Given the description of an element on the screen output the (x, y) to click on. 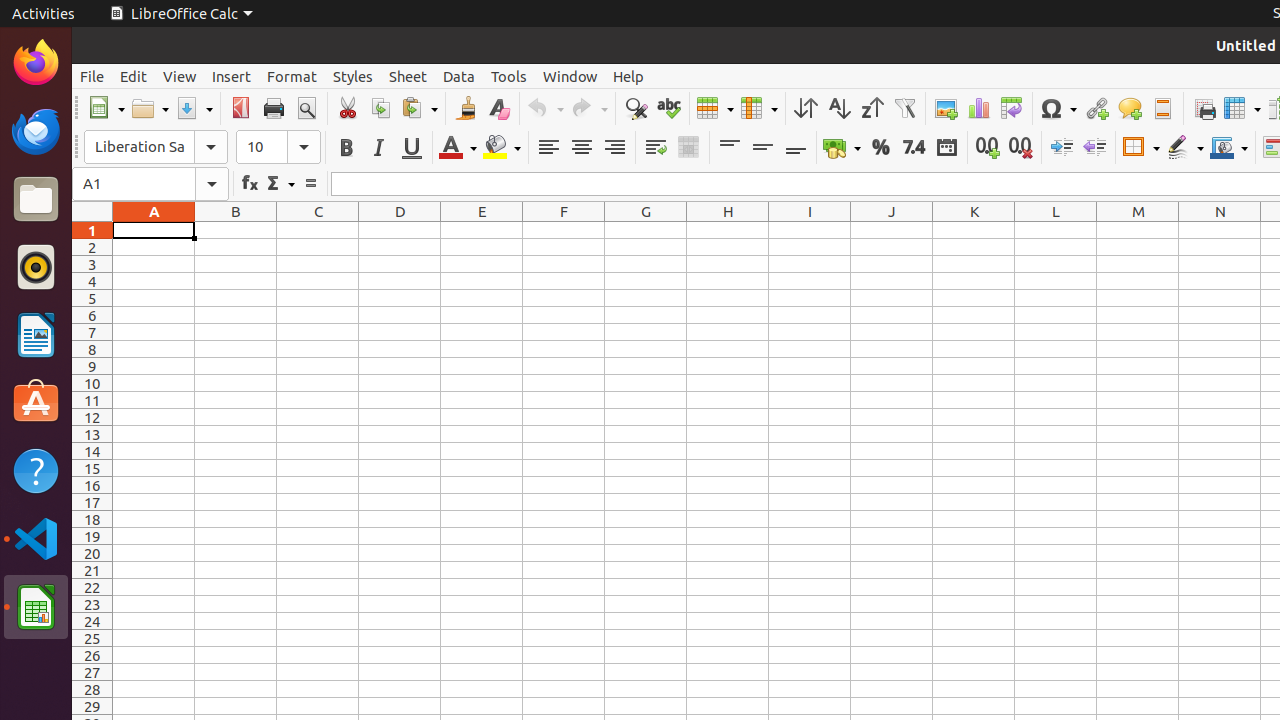
L1 Element type: table-cell (1056, 230)
Border Color Element type: push-button (1229, 147)
A1 Element type: table-cell (154, 230)
Chart Element type: push-button (978, 108)
Visual Studio Code Element type: push-button (36, 538)
